Given the description of an element on the screen output the (x, y) to click on. 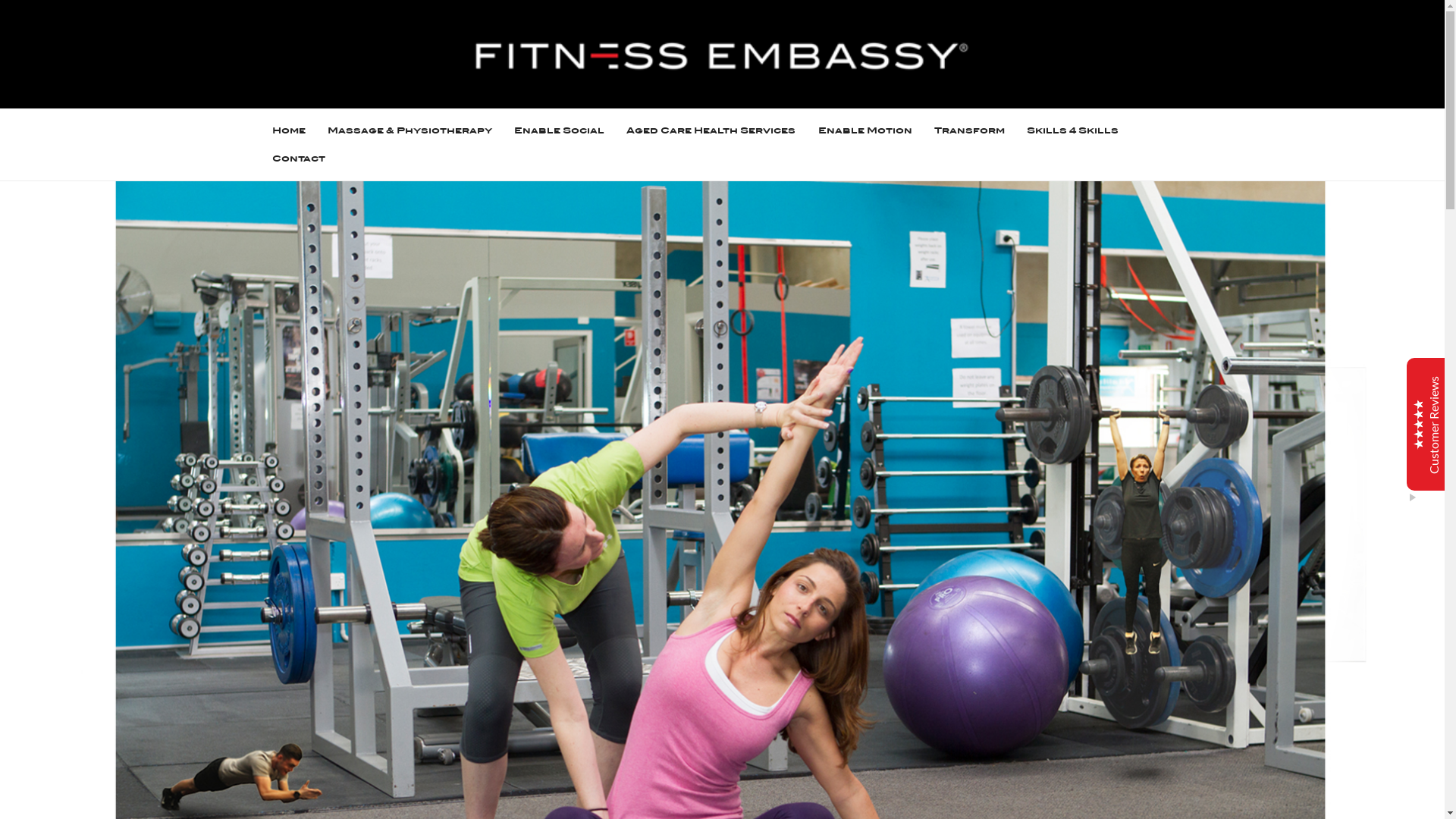
Massage & Physiotherapy Element type: text (409, 130)
Skip to content Element type: text (0, 0)
Transform Element type: text (969, 130)
Contact Element type: text (298, 158)
Enable Motion Element type: text (865, 130)
Aged Care Health Services Element type: text (710, 130)
Enable Social Element type: text (559, 130)
Skills 4 Skills Element type: text (1072, 130)
Home Element type: text (288, 130)
